Given the description of an element on the screen output the (x, y) to click on. 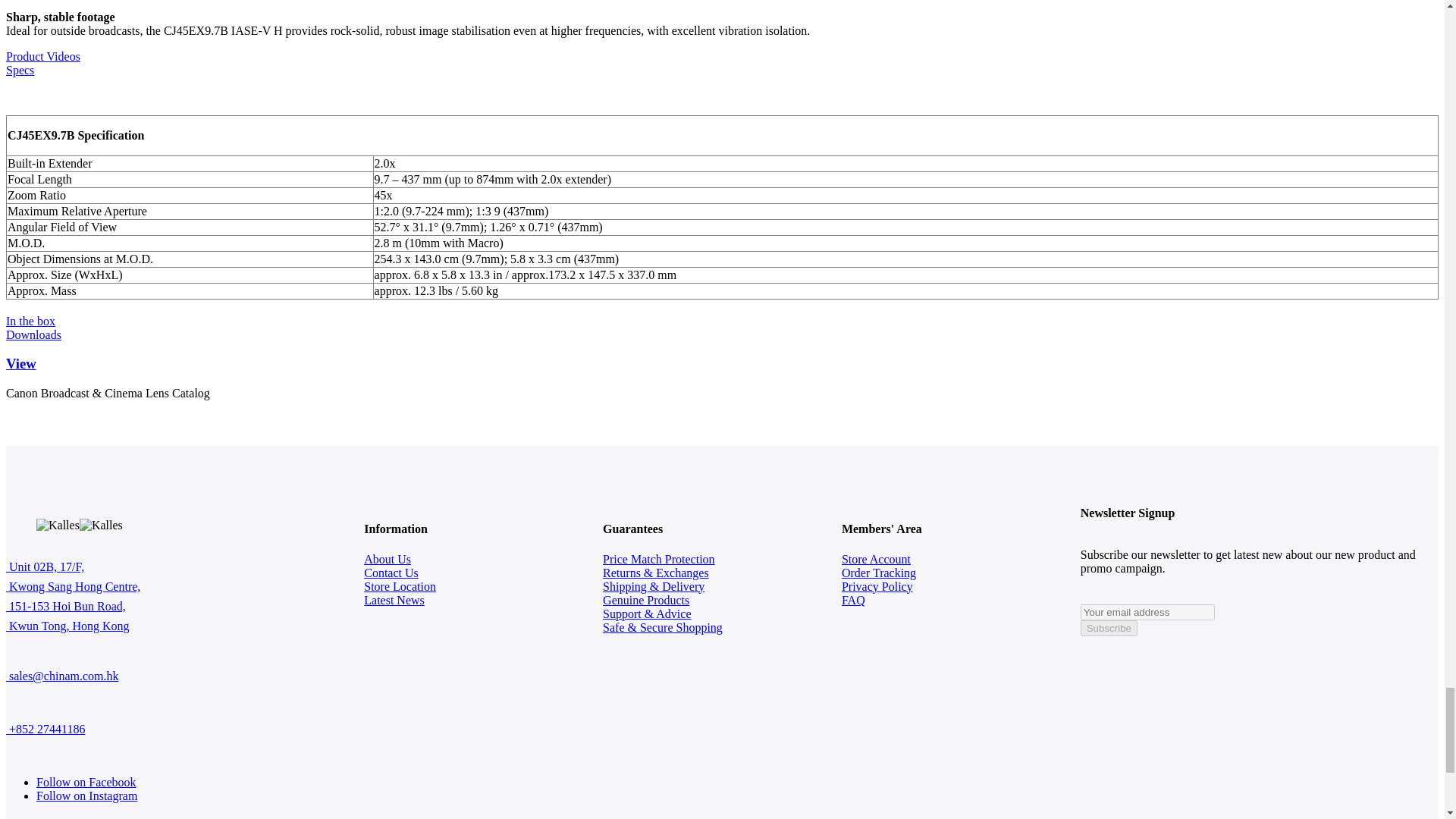
Kalles (58, 525)
Kalles (101, 525)
